Given the description of an element on the screen output the (x, y) to click on. 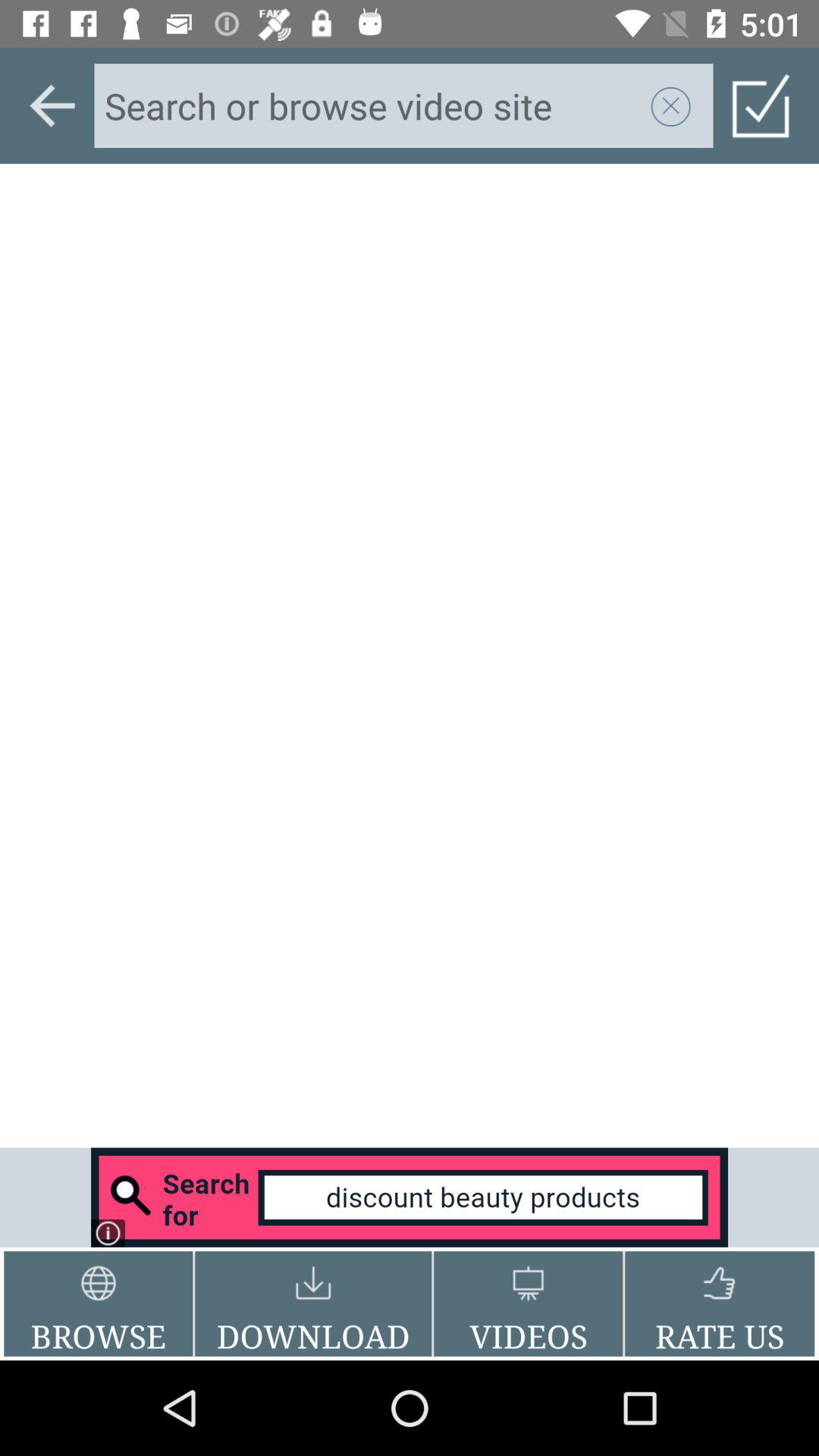
close (670, 105)
